Given the description of an element on the screen output the (x, y) to click on. 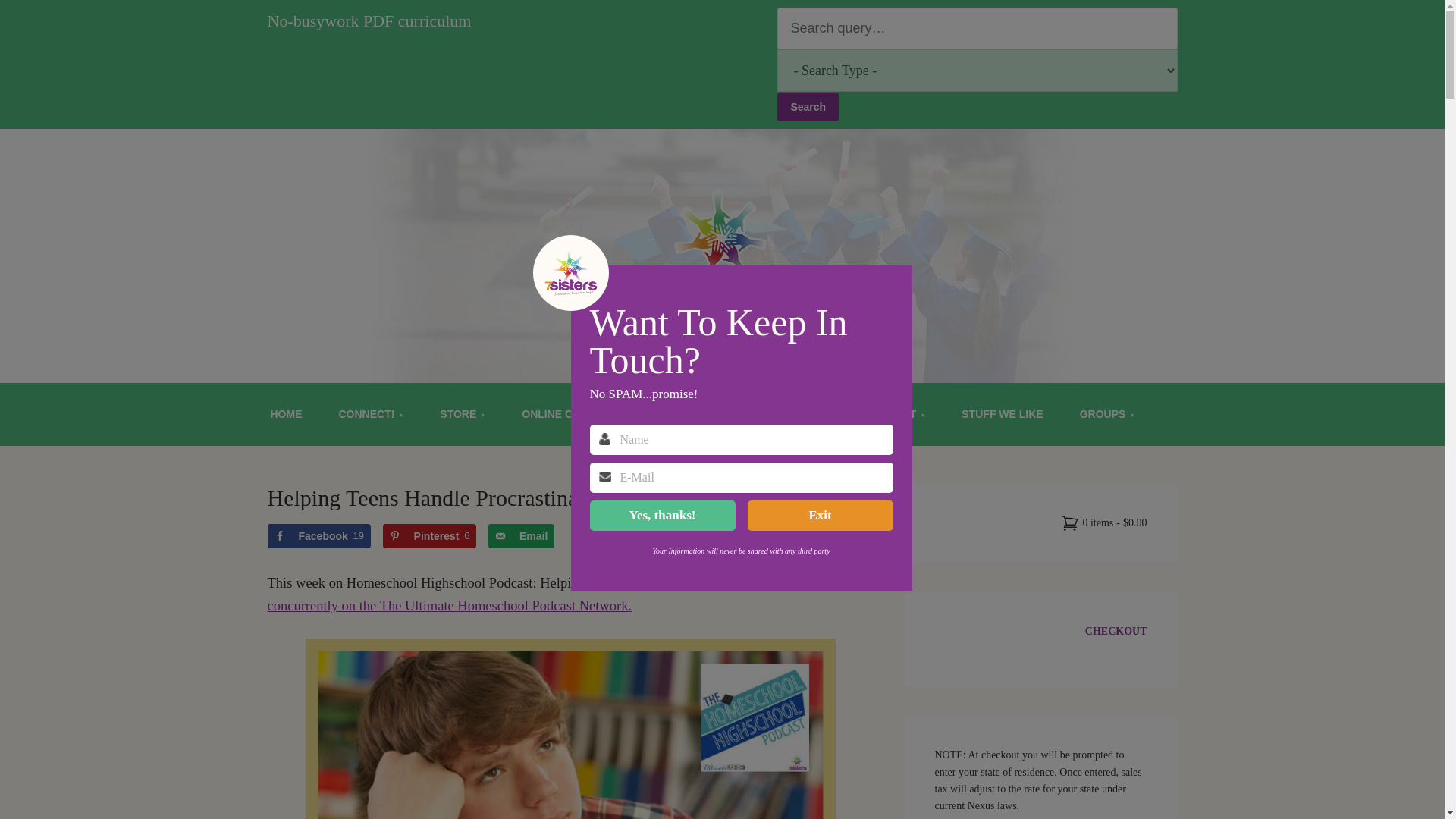
HOME (285, 414)
Search (807, 106)
STUFF WE LIKE (1002, 414)
Yes, thanks! (662, 515)
STORE (462, 414)
Send over email (520, 535)
Exit (820, 515)
GROUPS (1107, 414)
STATE REIMBURSEMENT (718, 414)
ONLINE COURSES (568, 414)
Share on Facebook (317, 535)
Search (807, 106)
Save to Pinterest (429, 535)
CONNECT! (371, 414)
